Given the description of an element on the screen output the (x, y) to click on. 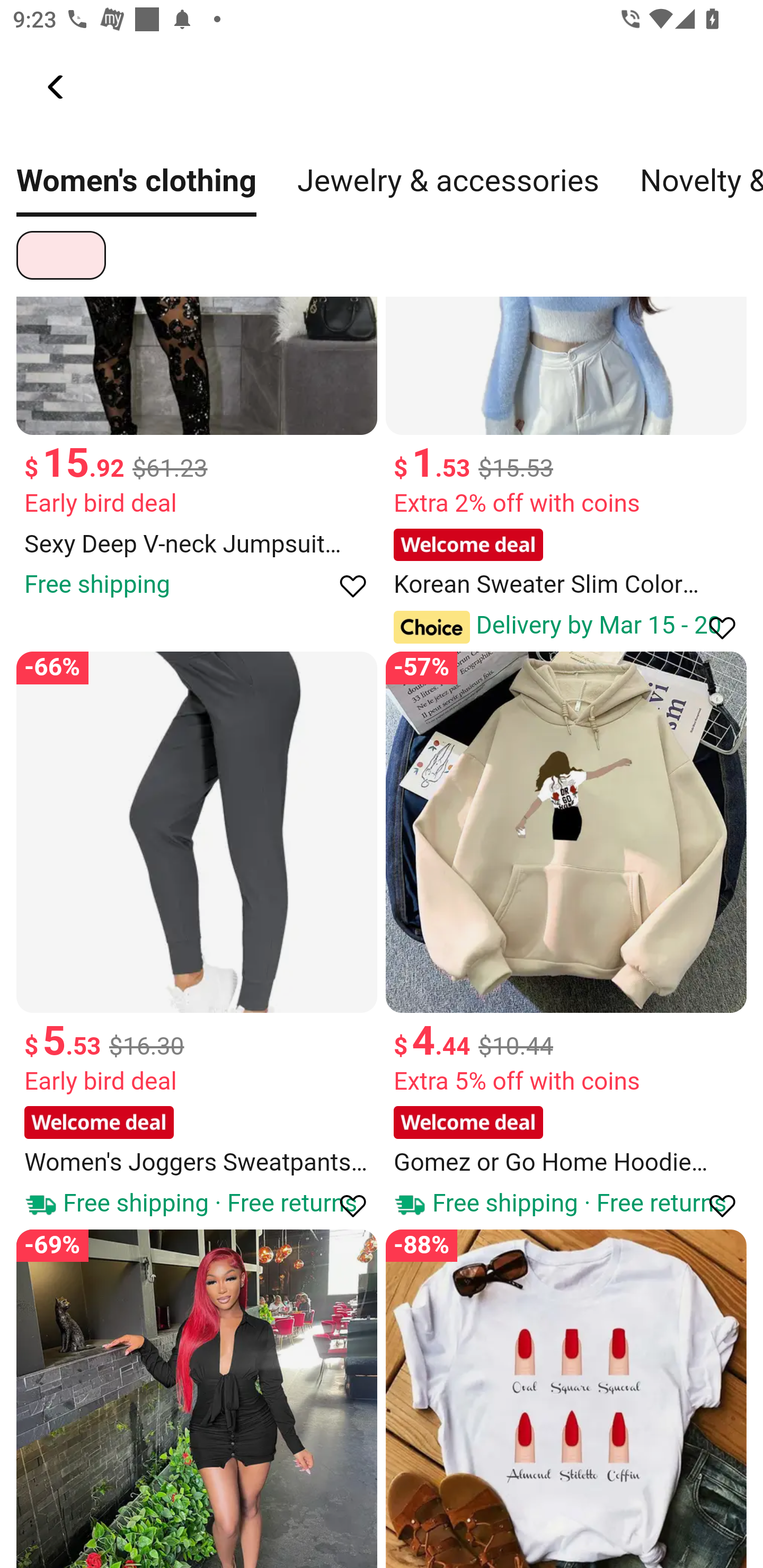
 (57, 86)
Women's clothing (136, 189)
Jewelry & accessories (449, 189)
Novelty & special use (701, 189)
 (344, 585)
 (713, 625)
 (344, 1204)
 (713, 1204)
